Given the description of an element on the screen output the (x, y) to click on. 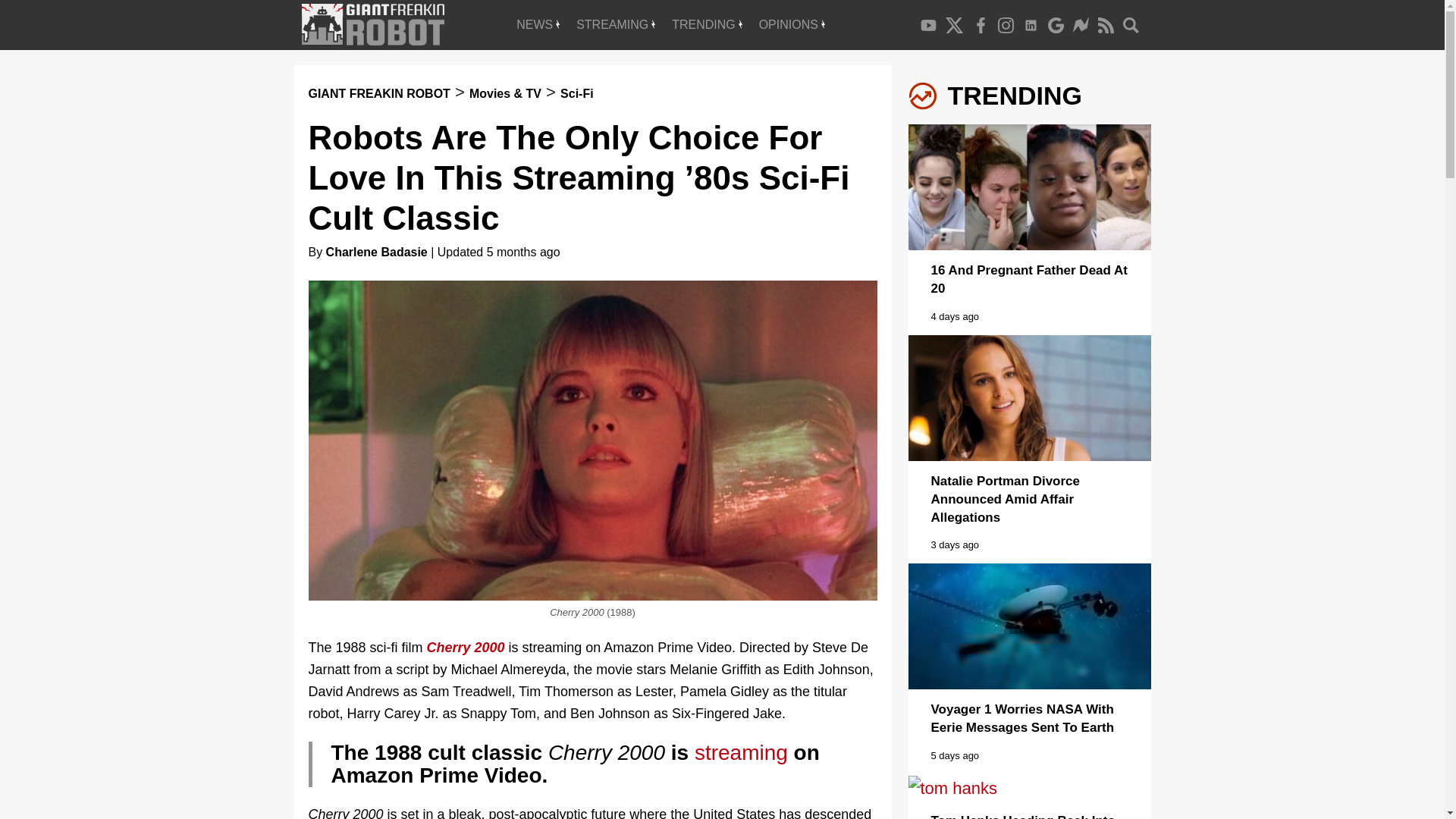
Trending (706, 24)
TRENDING (706, 24)
Streaming (615, 24)
Sci-Fi (577, 92)
STREAMING (615, 24)
NEWS (537, 24)
GIANT FREAKIN ROBOT (378, 92)
Entertainment News (537, 24)
OPINIONS (791, 24)
